Given the description of an element on the screen output the (x, y) to click on. 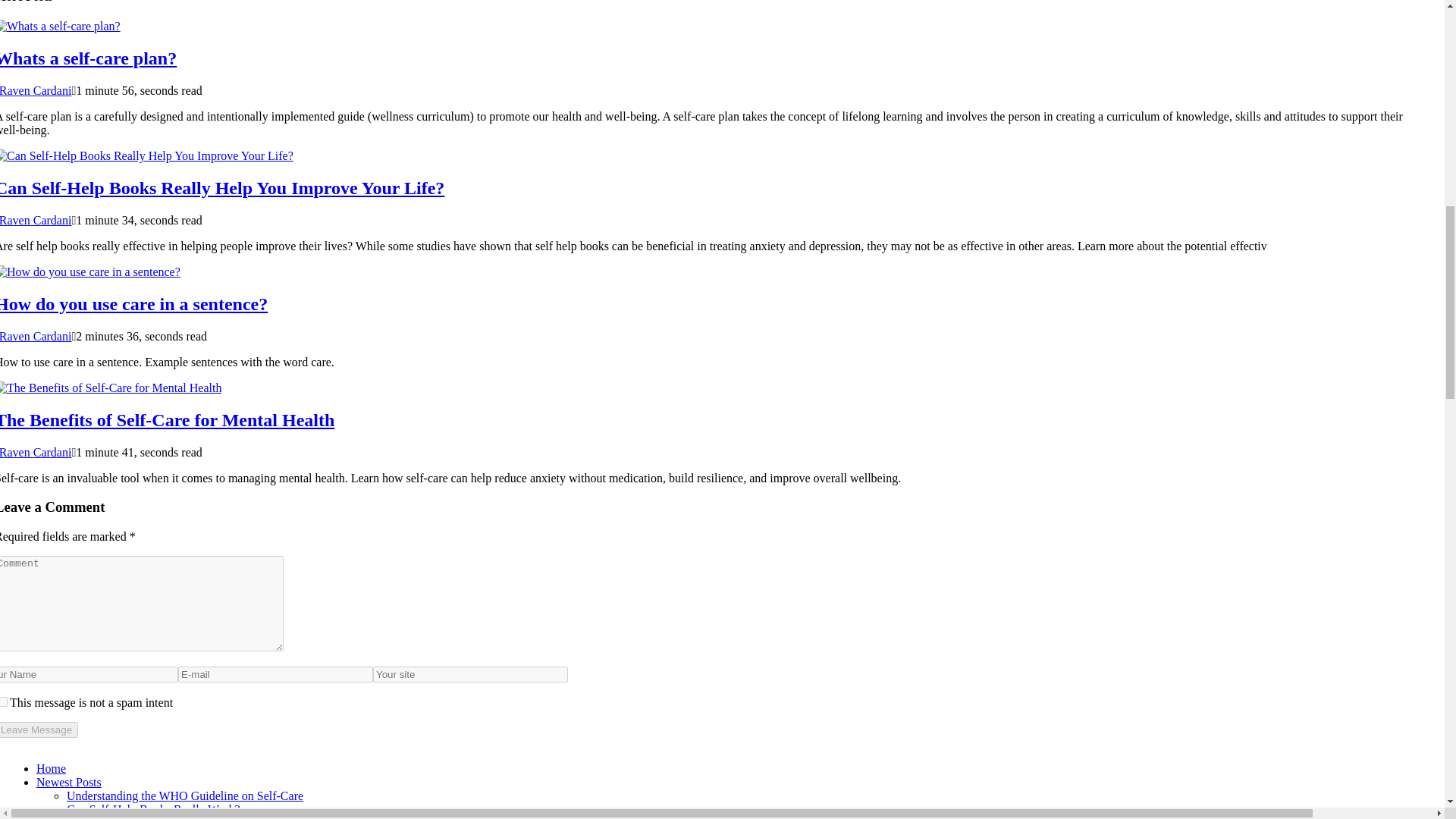
Newest Posts (68, 781)
Raven Cardani (35, 219)
Posts by Raven Cardani (35, 451)
Whats a self-care plan? (88, 57)
How do you use care in a sentence? (133, 303)
Understanding the WHO Guideline on Self-Care (184, 795)
Posts by Raven Cardani (35, 219)
yes (3, 701)
Raven Cardani (35, 451)
Home (50, 768)
Raven Cardani (35, 336)
Posts by Raven Cardani (35, 90)
Can Self-Help Books Really Work? (153, 809)
Raven Cardani (35, 90)
